Given the description of an element on the screen output the (x, y) to click on. 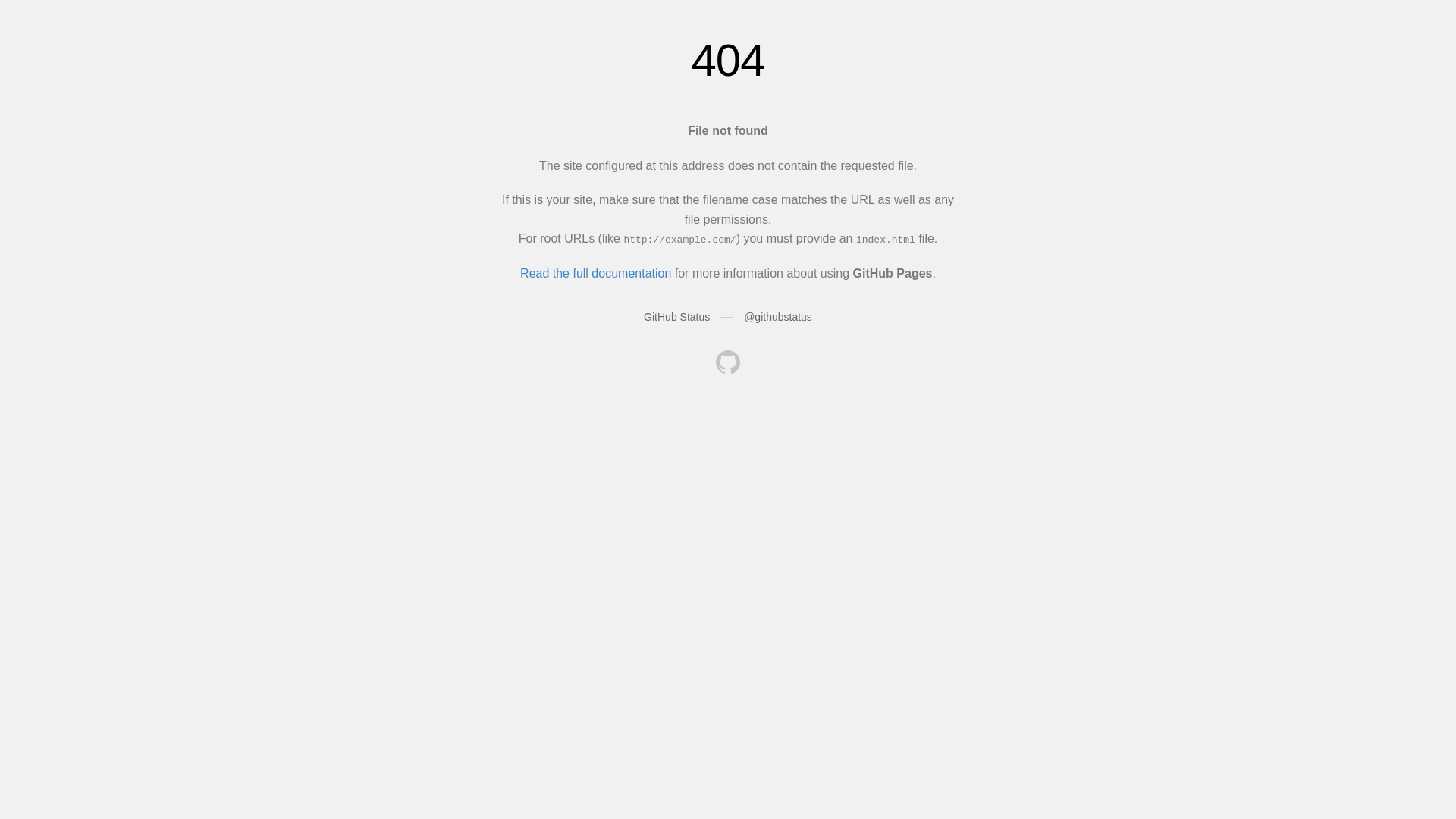
@githubstatus Element type: text (777, 316)
GitHub Status Element type: text (676, 316)
Read the full documentation Element type: text (595, 272)
